Given the description of an element on the screen output the (x, y) to click on. 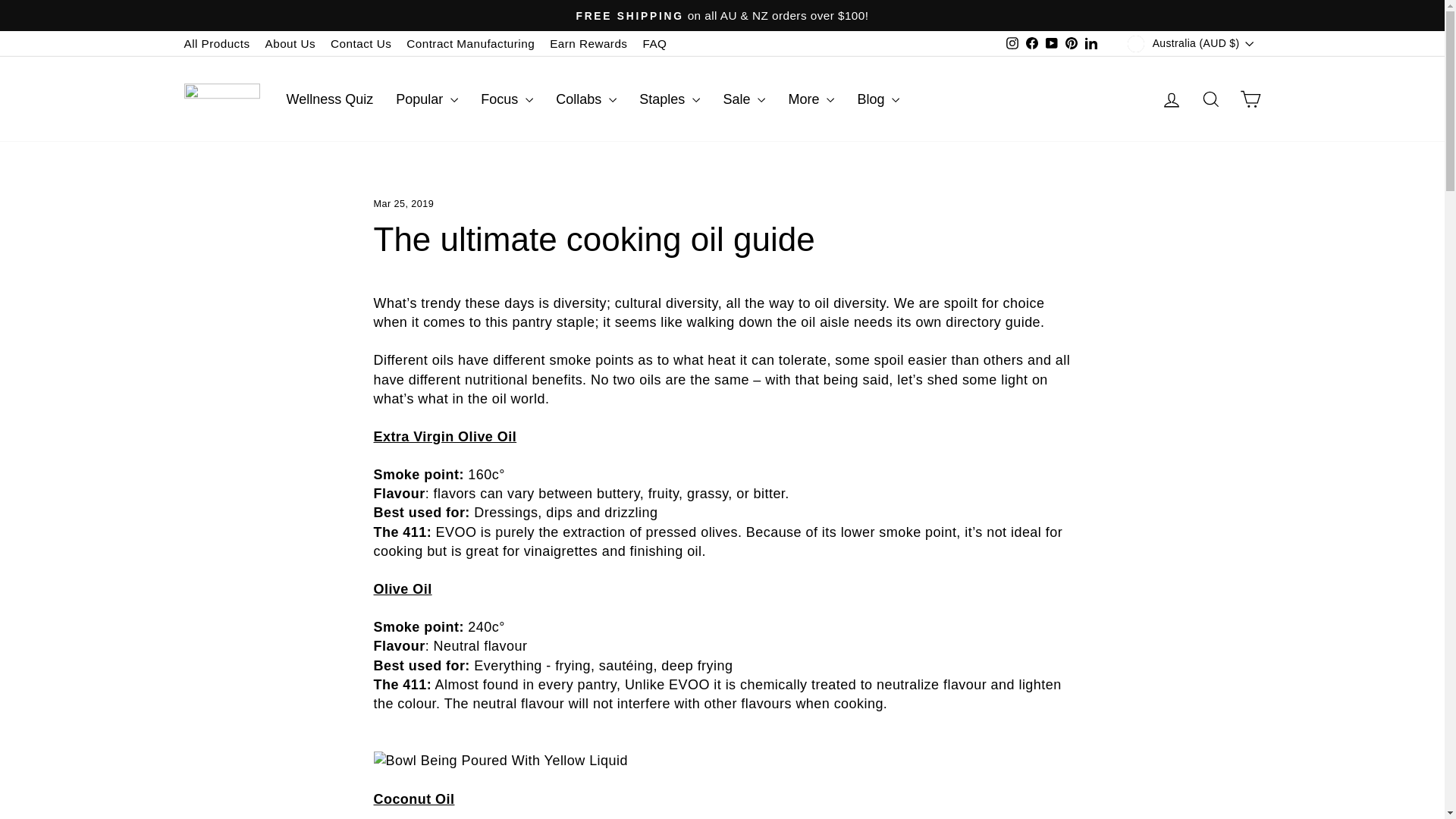
instagram (1011, 42)
Morlife AUS on Instagram (1012, 43)
Morlife AUS on Facebook (1032, 43)
Morlife AUS on LinkedIn (1090, 43)
Morlife AUS on YouTube (1051, 43)
icon-search (1210, 98)
Morlife AUS on Pinterest (1071, 43)
account (1170, 99)
